Given the description of an element on the screen output the (x, y) to click on. 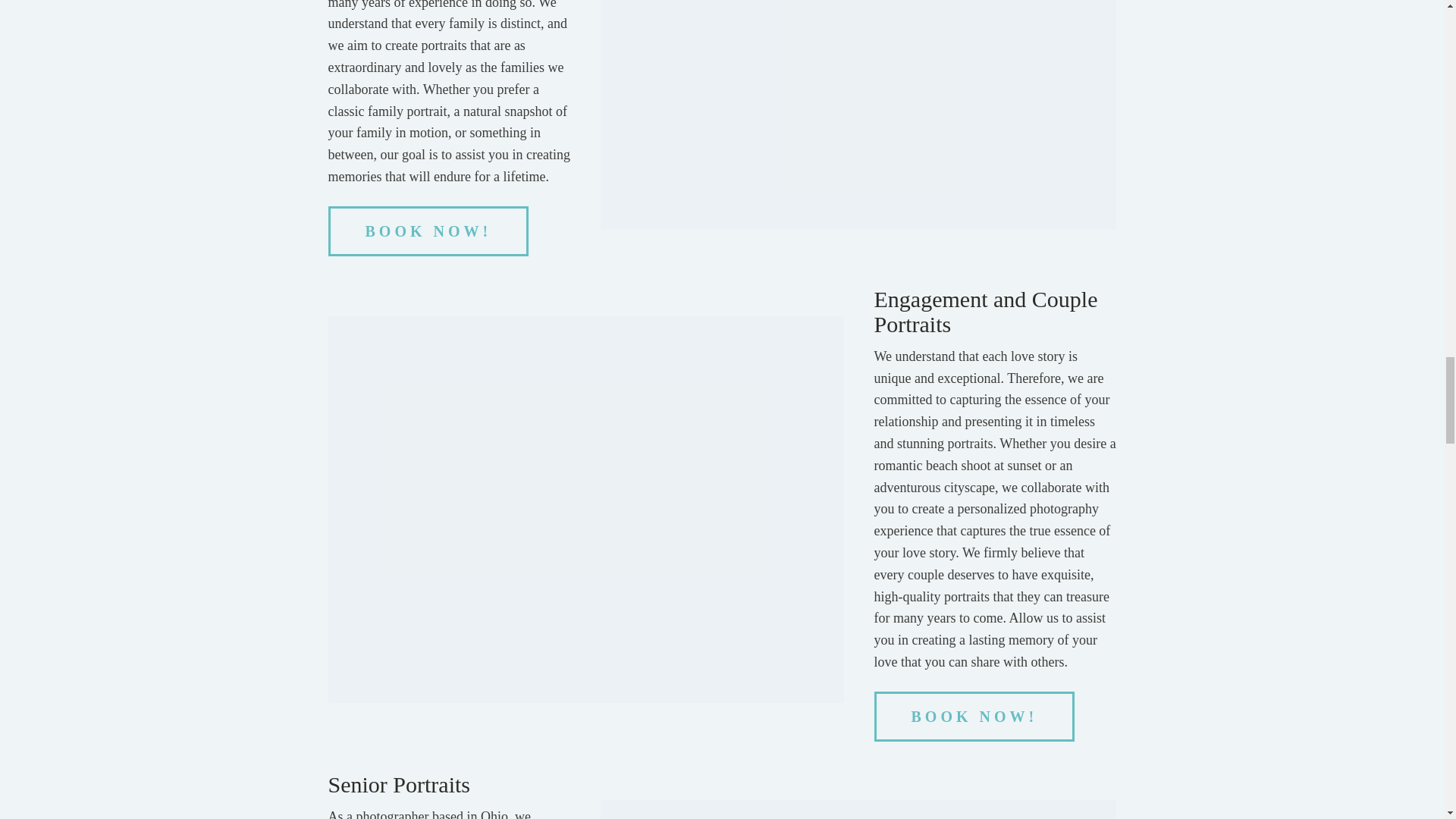
BOOK NOW! (975, 716)
BOOK NOW! (427, 231)
